Given the description of an element on the screen output the (x, y) to click on. 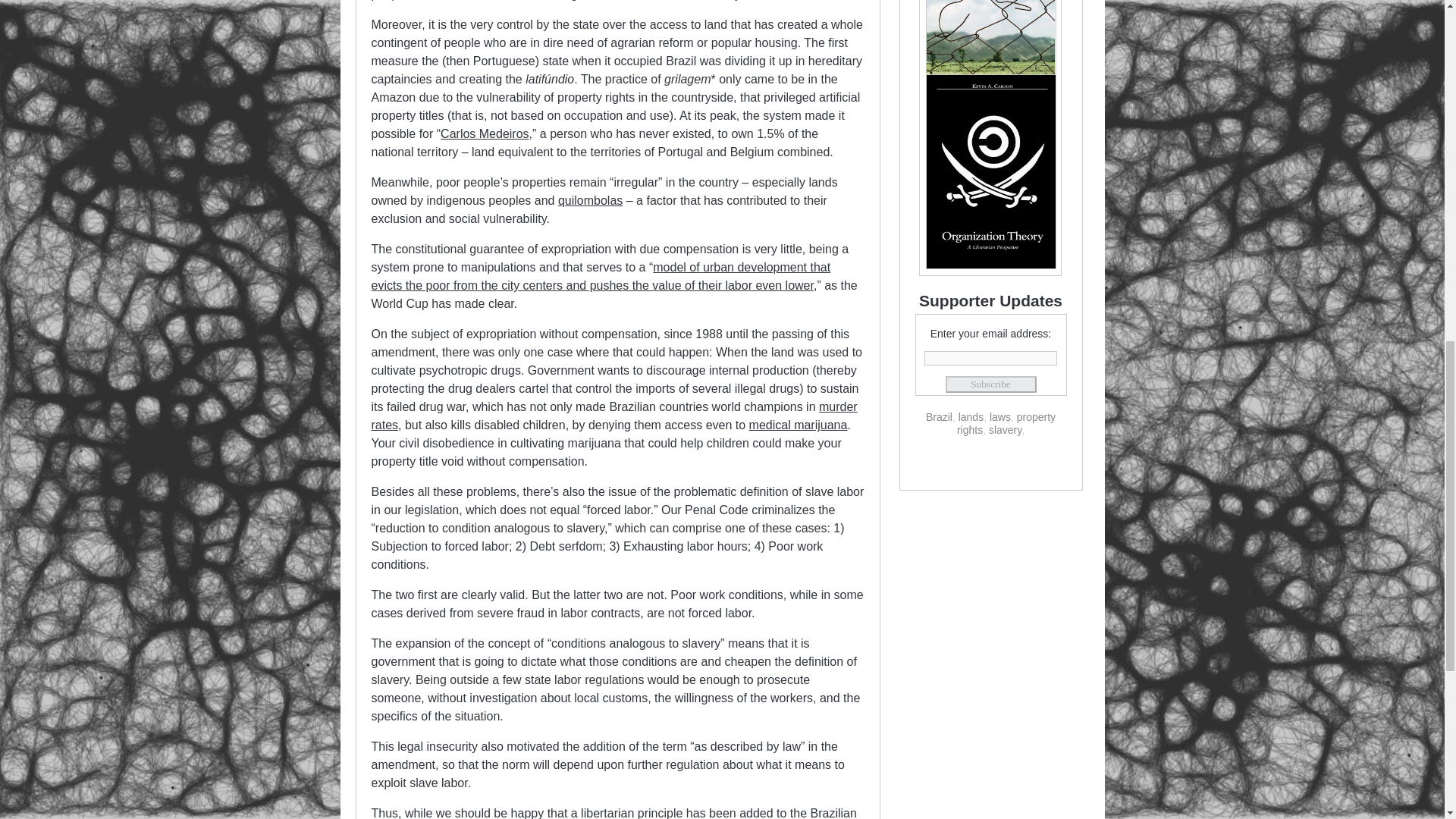
lands (971, 417)
laws (1000, 417)
property rights (1005, 423)
quilombolas (590, 200)
Subscribe (989, 384)
Subscribe (989, 384)
slavery (1005, 429)
Carlos Medeiros (484, 133)
Brazil (939, 417)
medical marijuana (798, 424)
murder rates (614, 415)
